Given the description of an element on the screen output the (x, y) to click on. 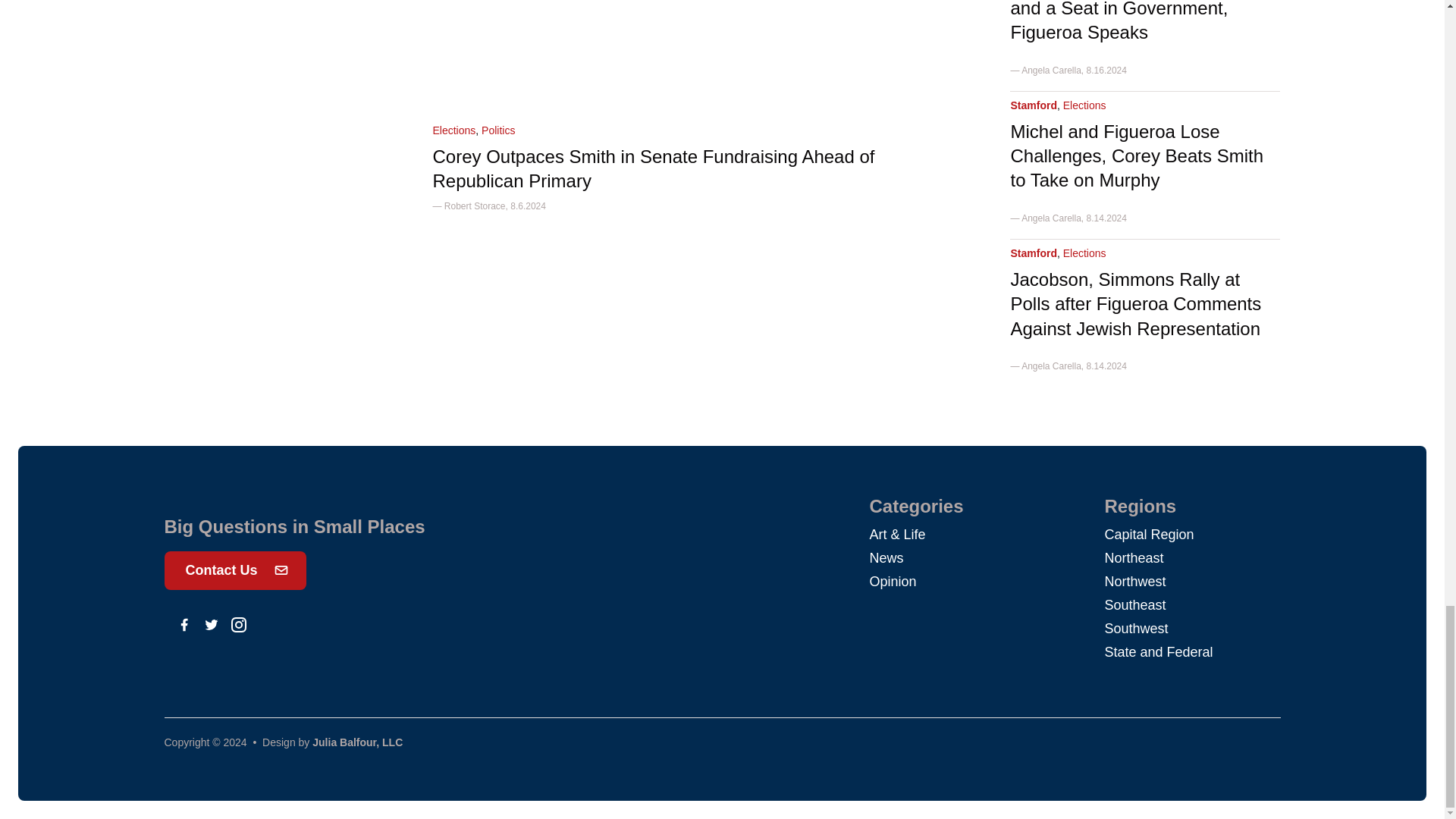
twitter (210, 624)
facebook (183, 624)
instagram (238, 624)
